Given the description of an element on the screen output the (x, y) to click on. 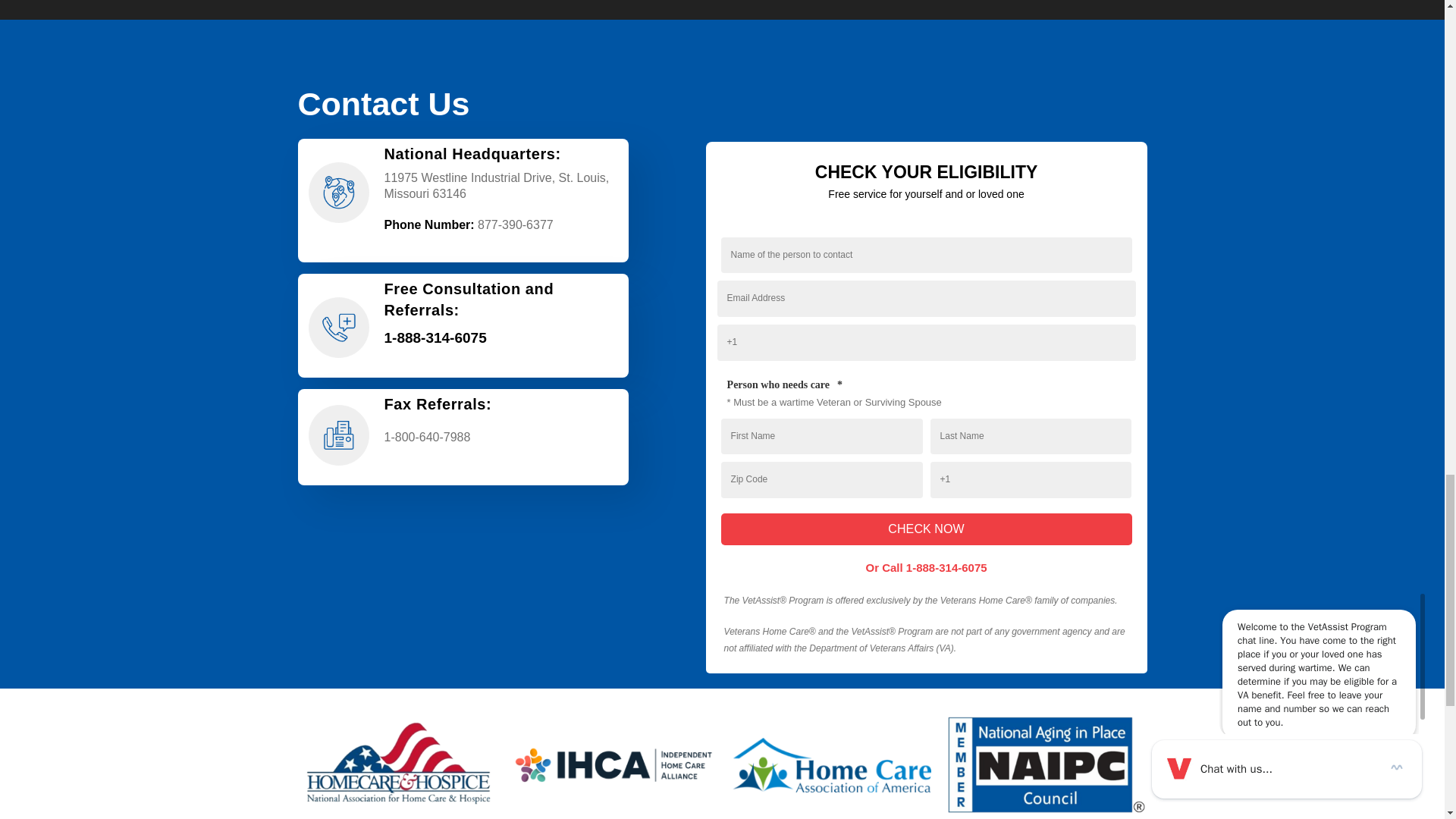
11975 Westline Industrial Drive, St. Louis, Missouri 63146 (462, 568)
